Given the description of an element on the screen output the (x, y) to click on. 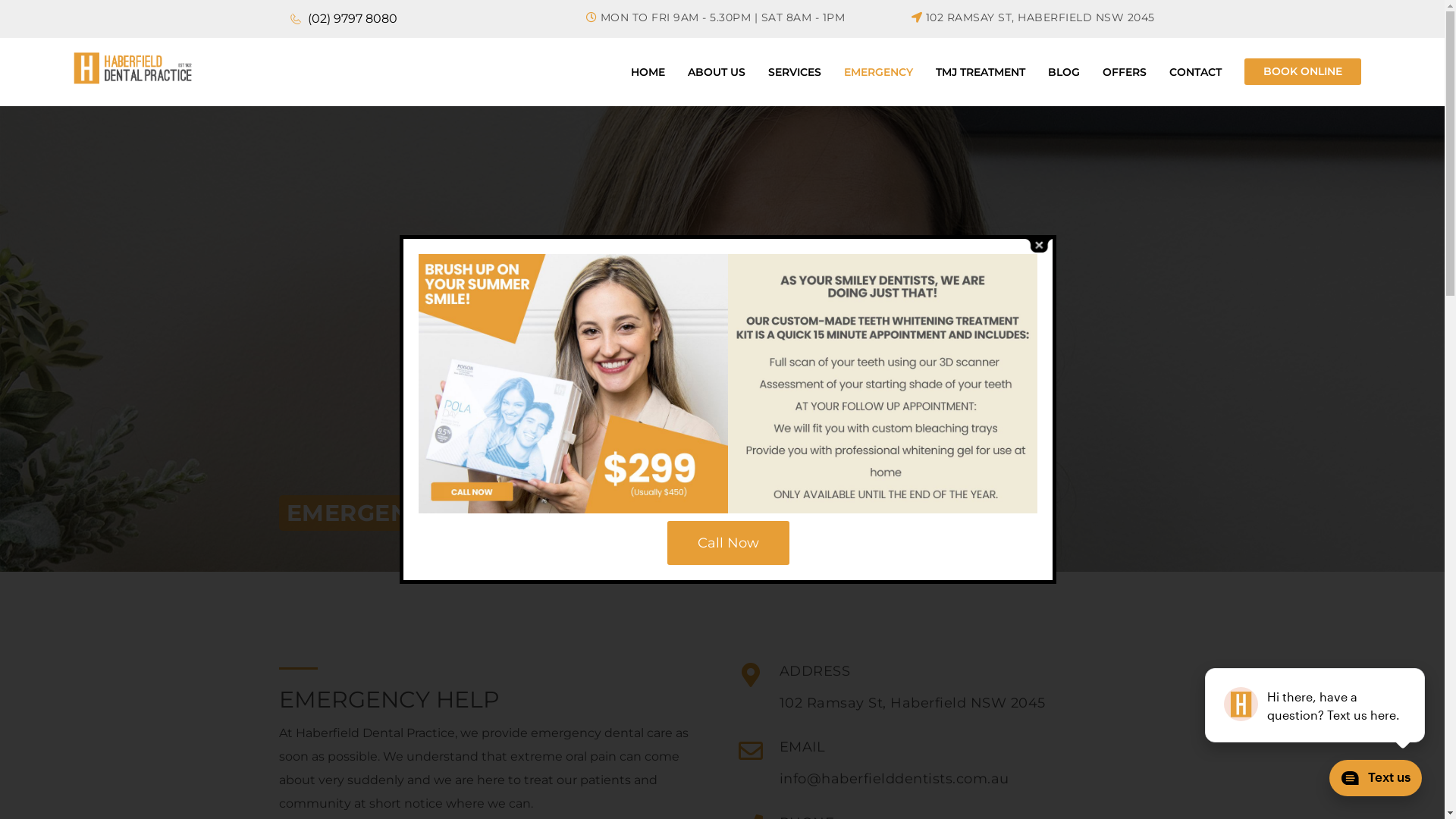
Haberfield Dental Practice Element type: hover (132, 67)
CONTACT Element type: text (1195, 71)
podium webchat widget prompt Element type: hover (1315, 705)
EMERGENCY Element type: text (878, 71)
info@haberfielddentists.com.au Element type: text (894, 778)
OFFERS Element type: text (1124, 71)
Go Element type: text (1147, 18)
HOME Element type: text (647, 71)
ABOUT US Element type: text (716, 71)
(02) 9797 8080 Element type: text (350, 18)
Call Now Element type: text (728, 542)
TMJ TREATMENT Element type: text (980, 71)
Close Element type: hover (1038, 245)
BLOG Element type: text (1063, 71)
BOOK ONLINE Element type: text (1302, 71)
SERVICES Element type: text (794, 71)
102 Ramsay St, Haberfield NSW 2045 Element type: text (912, 702)
